Given the description of an element on the screen output the (x, y) to click on. 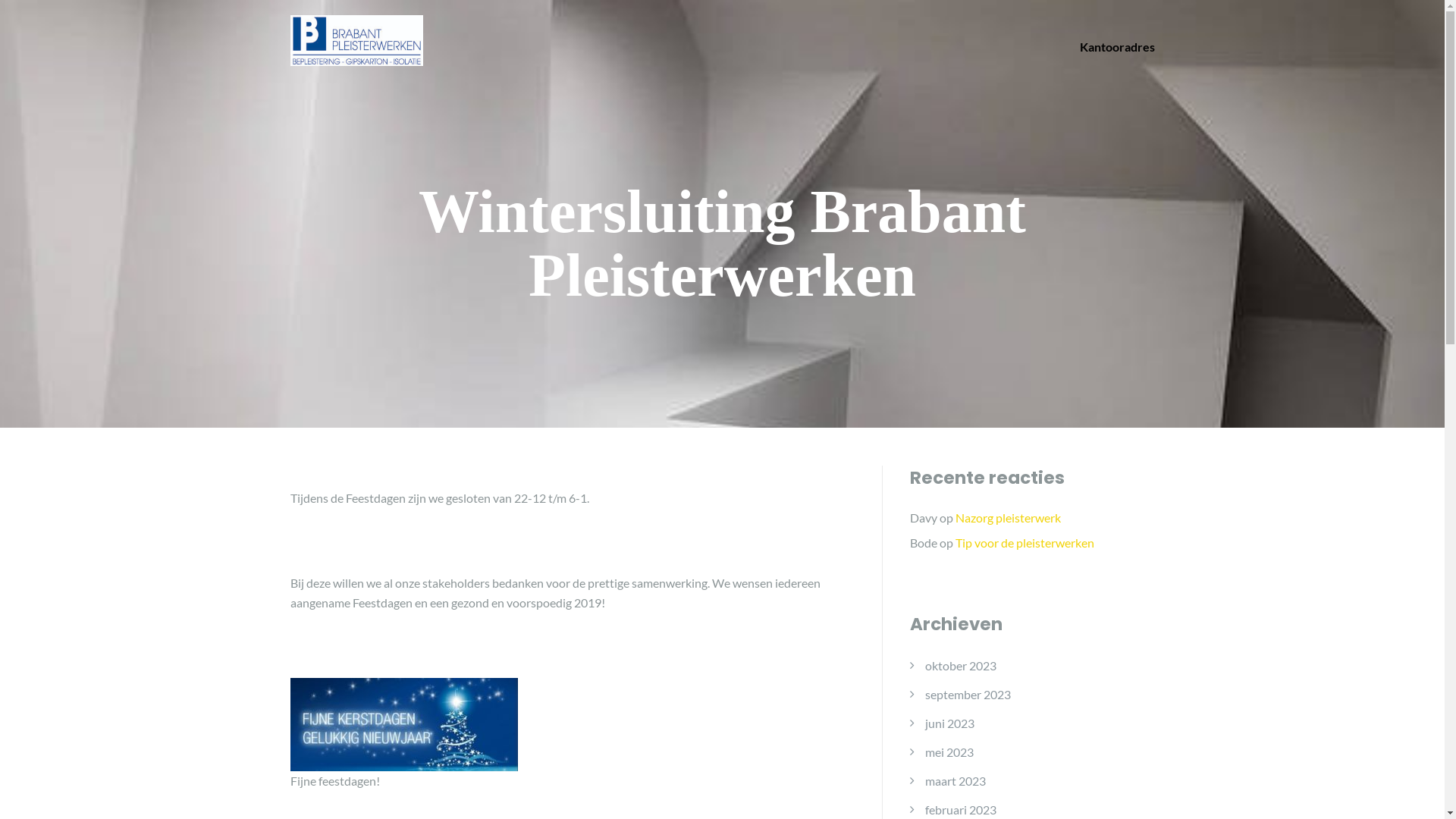
mei 2023 Element type: text (949, 751)
maart 2023 Element type: text (955, 779)
Nazorg pleisterwerk Element type: text (1007, 516)
september 2023 Element type: text (967, 693)
oktober 2023 Element type: text (960, 664)
Tip voor de pleisterwerken Element type: text (1024, 542)
Kantooradres Element type: text (1116, 46)
juni 2023 Element type: text (949, 722)
Brabant Pleisterwerken Element type: hover (355, 38)
